Given the description of an element on the screen output the (x, y) to click on. 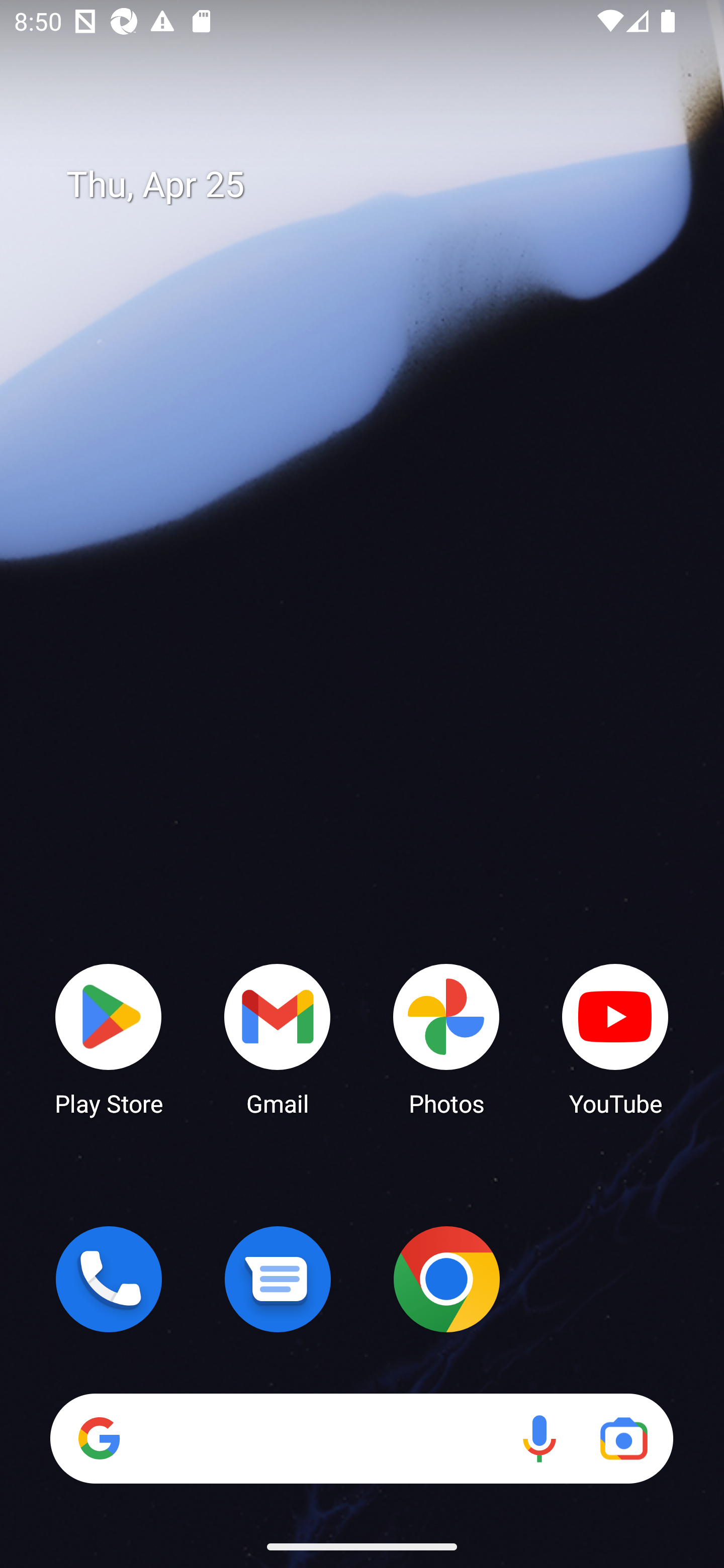
Thu, Apr 25 (375, 184)
Play Store (108, 1038)
Gmail (277, 1038)
Photos (445, 1038)
YouTube (615, 1038)
Phone (108, 1279)
Messages (277, 1279)
Chrome (446, 1279)
Search Voice search Google Lens (361, 1438)
Voice search (539, 1438)
Google Lens (623, 1438)
